Given the description of an element on the screen output the (x, y) to click on. 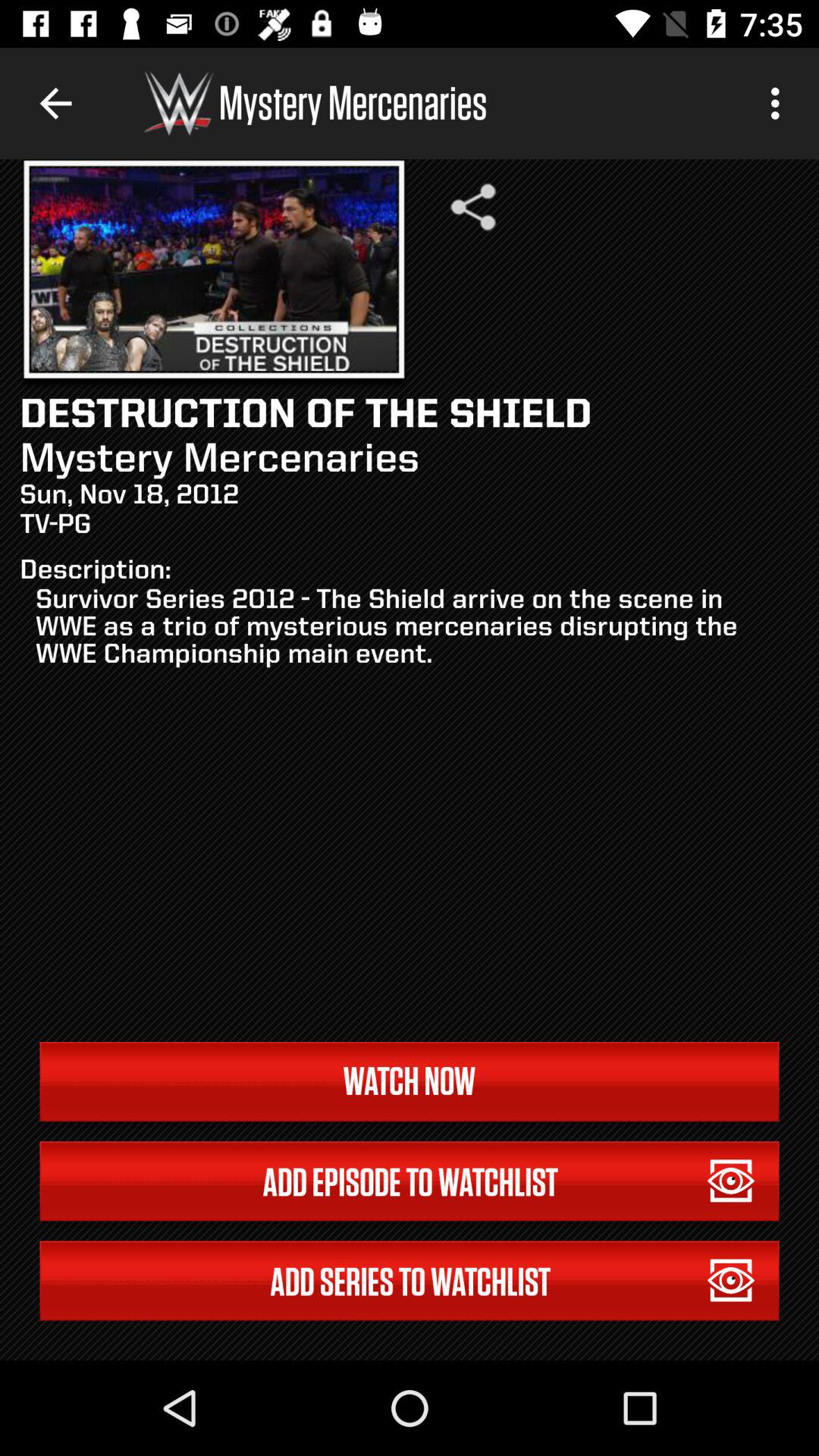
select icon below mystery mercenaries icon (472, 206)
